Given the description of an element on the screen output the (x, y) to click on. 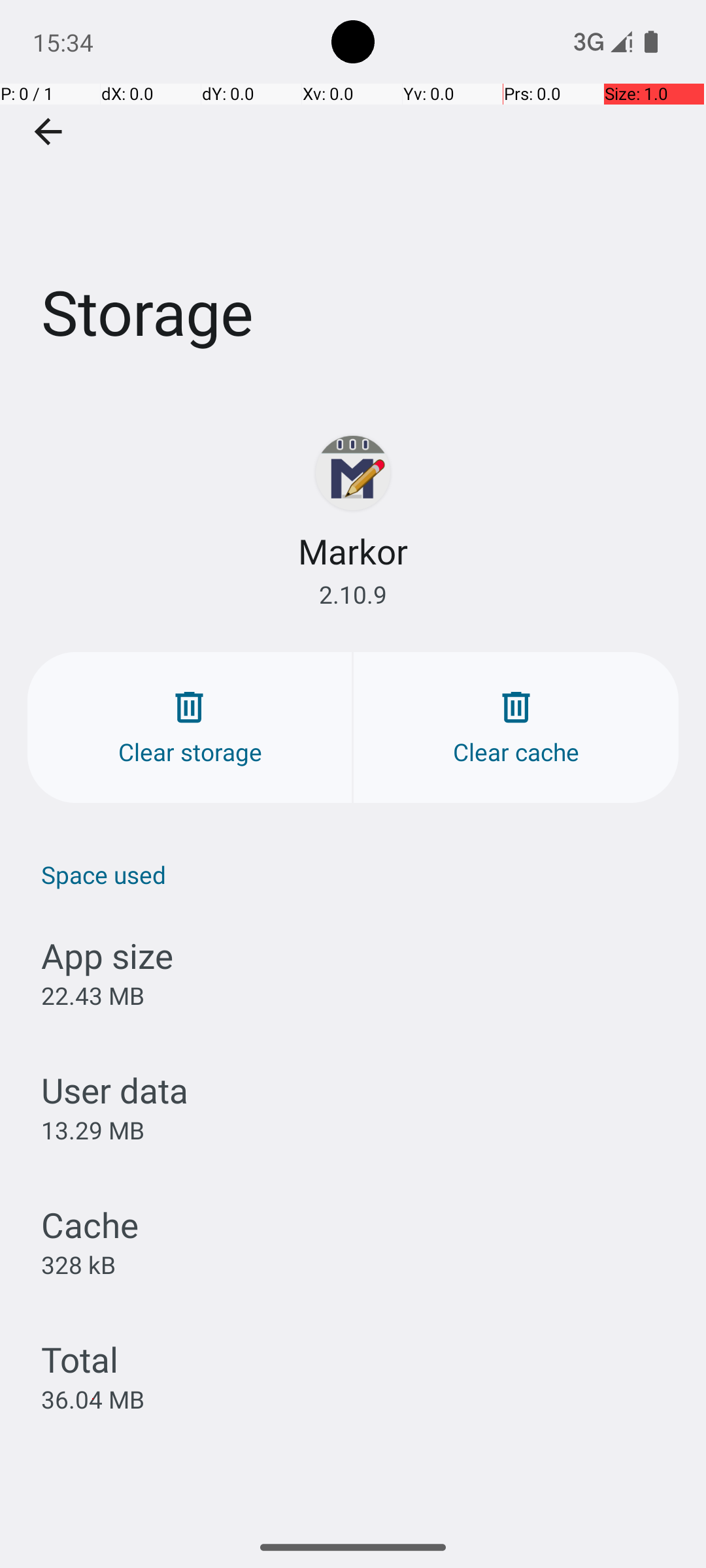
2.10.9 Element type: android.widget.TextView (352, 593)
Clear storage Element type: android.widget.Button (189, 727)
Clear cache Element type: android.widget.Button (515, 727)
Space used Element type: android.widget.TextView (359, 874)
App size Element type: android.widget.TextView (107, 955)
22.43 MB Element type: android.widget.TextView (92, 995)
User data Element type: android.widget.TextView (114, 1089)
13.29 MB Element type: android.widget.TextView (92, 1129)
Cache Element type: android.widget.TextView (89, 1224)
328 kB Element type: android.widget.TextView (78, 1264)
Total Element type: android.widget.TextView (79, 1359)
36.04 MB Element type: android.widget.TextView (92, 1398)
